Given the description of an element on the screen output the (x, y) to click on. 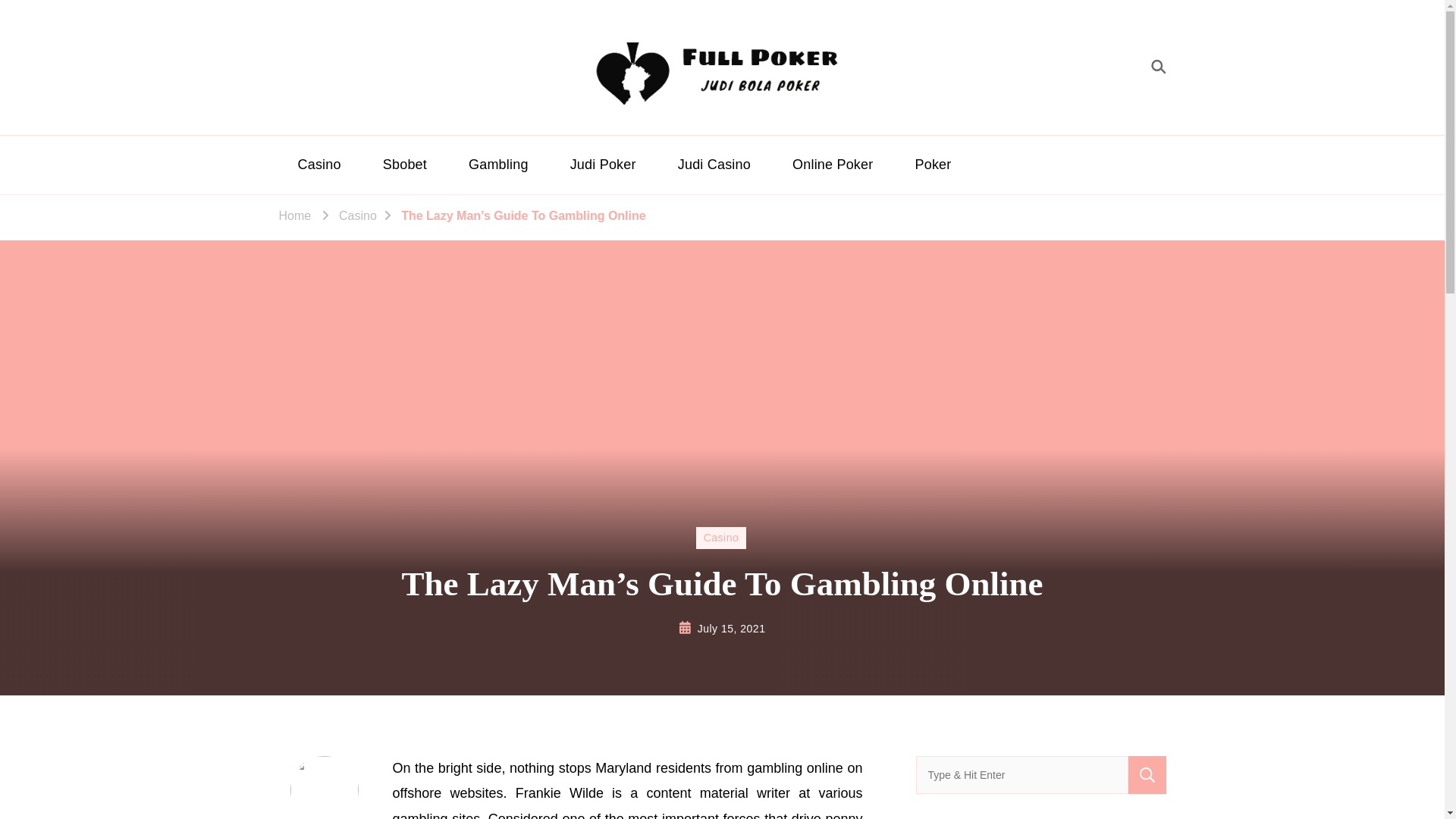
Casino (358, 216)
Poker (933, 164)
Search (1147, 774)
Online Poker (832, 164)
Gambling (498, 164)
admin (324, 787)
Casino (720, 537)
Judi Poker (603, 164)
Judi Casino (714, 164)
July 15, 2021 (731, 628)
